Given the description of an element on the screen output the (x, y) to click on. 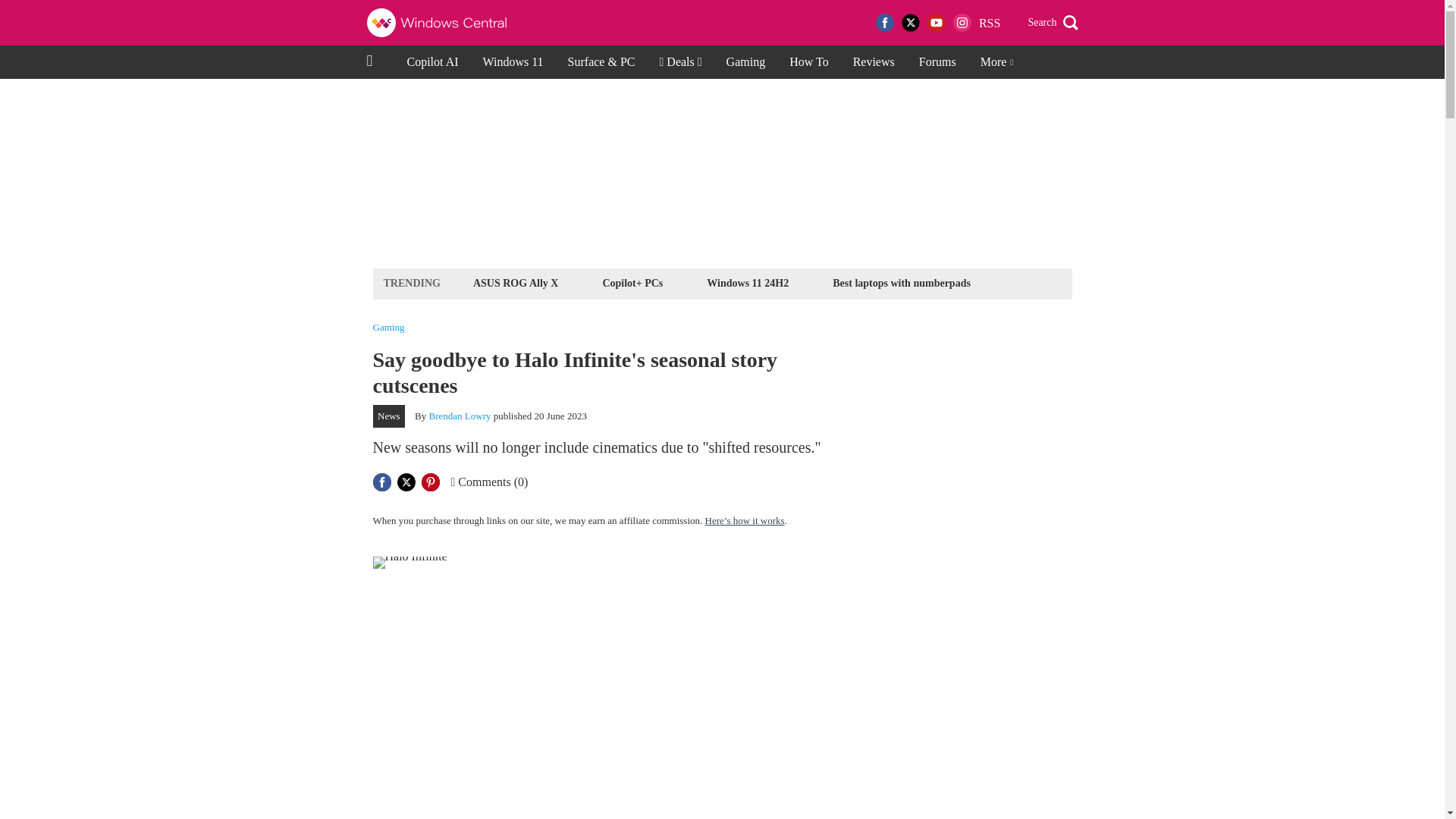
Best laptops with numberpads (901, 282)
Copilot AI (432, 61)
Gaming (745, 61)
Windows 11 (513, 61)
ASUS ROG Ally X (515, 282)
RSS (989, 22)
Forums (937, 61)
Reviews (874, 61)
How To (808, 61)
Gaming (388, 327)
News (389, 415)
Brendan Lowry (460, 415)
Windows 11 24H2 (747, 282)
